Given the description of an element on the screen output the (x, y) to click on. 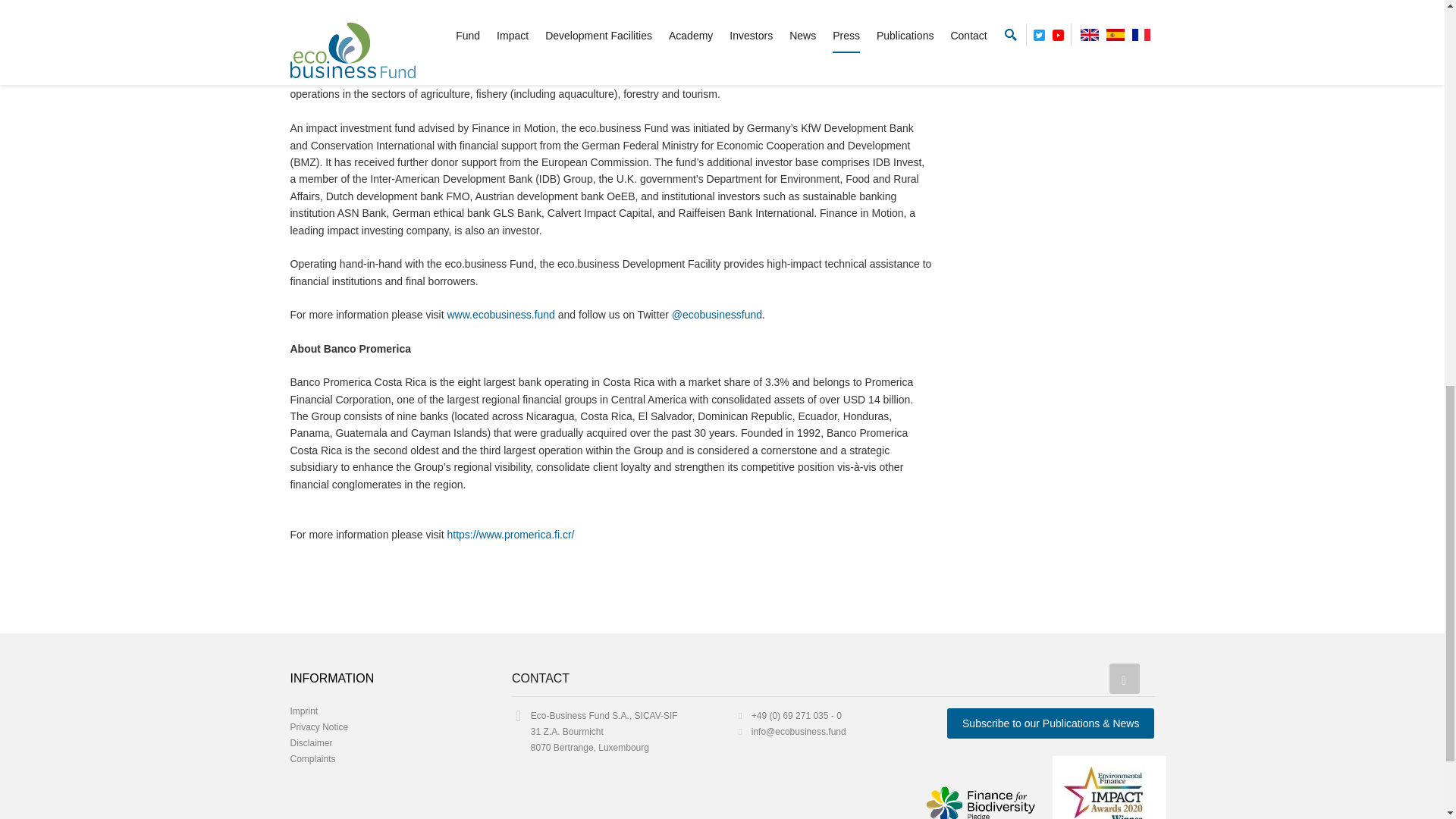
Disclaimer (310, 742)
Privacy Notice (318, 726)
www.ecobusiness.fund (500, 314)
Imprint (303, 710)
Complaints (311, 758)
